Given the description of an element on the screen output the (x, y) to click on. 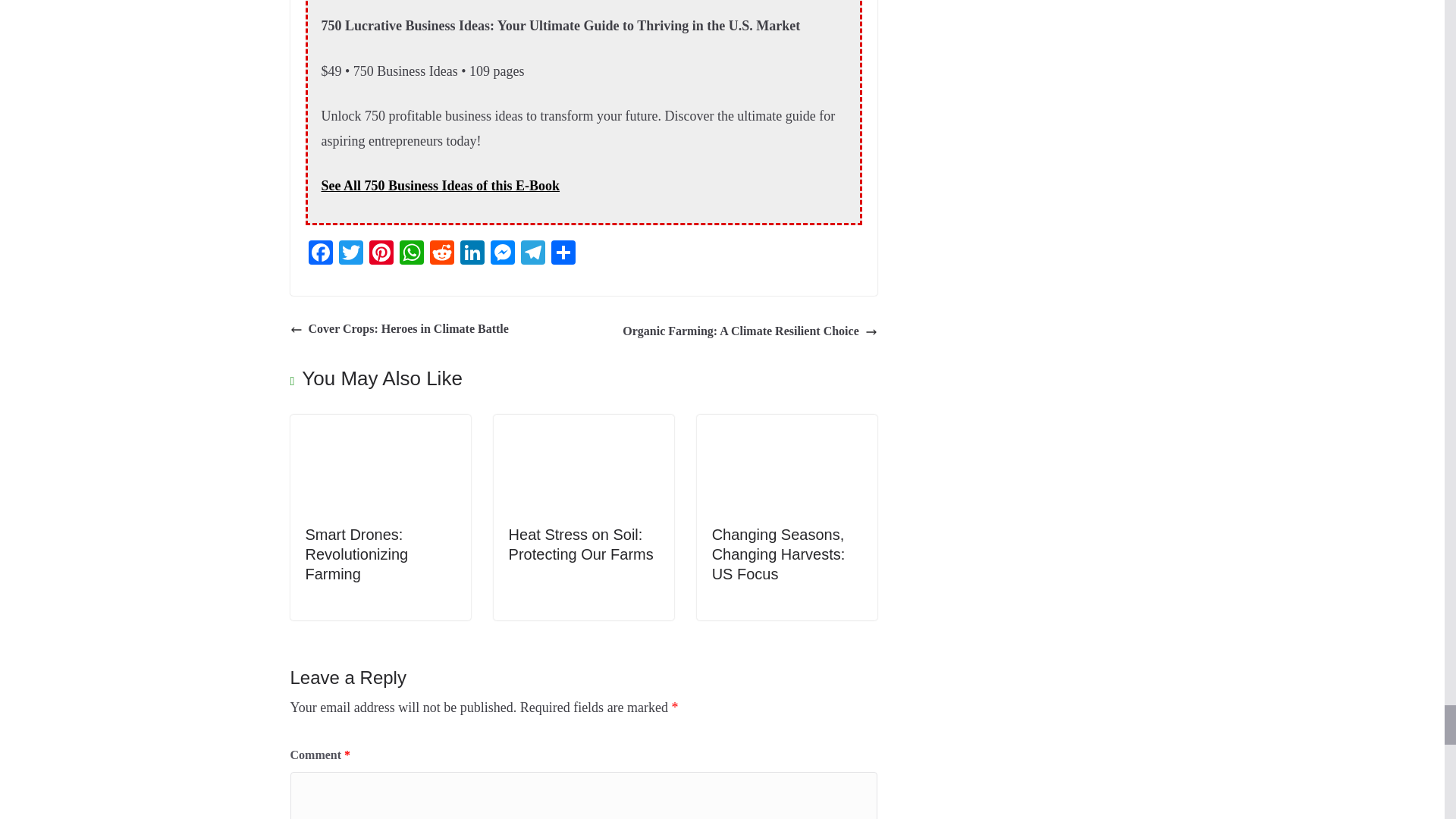
Share (562, 254)
Twitter (349, 254)
Messenger (501, 254)
Pinterest (380, 254)
Facebook (319, 254)
LinkedIn (471, 254)
WhatsApp (411, 254)
WhatsApp (411, 254)
Cover Crops: Heroes in Climate Battle (398, 329)
See All 750 Business Ideas of this E-Book (440, 185)
Twitter (349, 254)
Telegram (531, 254)
Reddit (441, 254)
Pinterest (380, 254)
Facebook (319, 254)
